Given the description of an element on the screen output the (x, y) to click on. 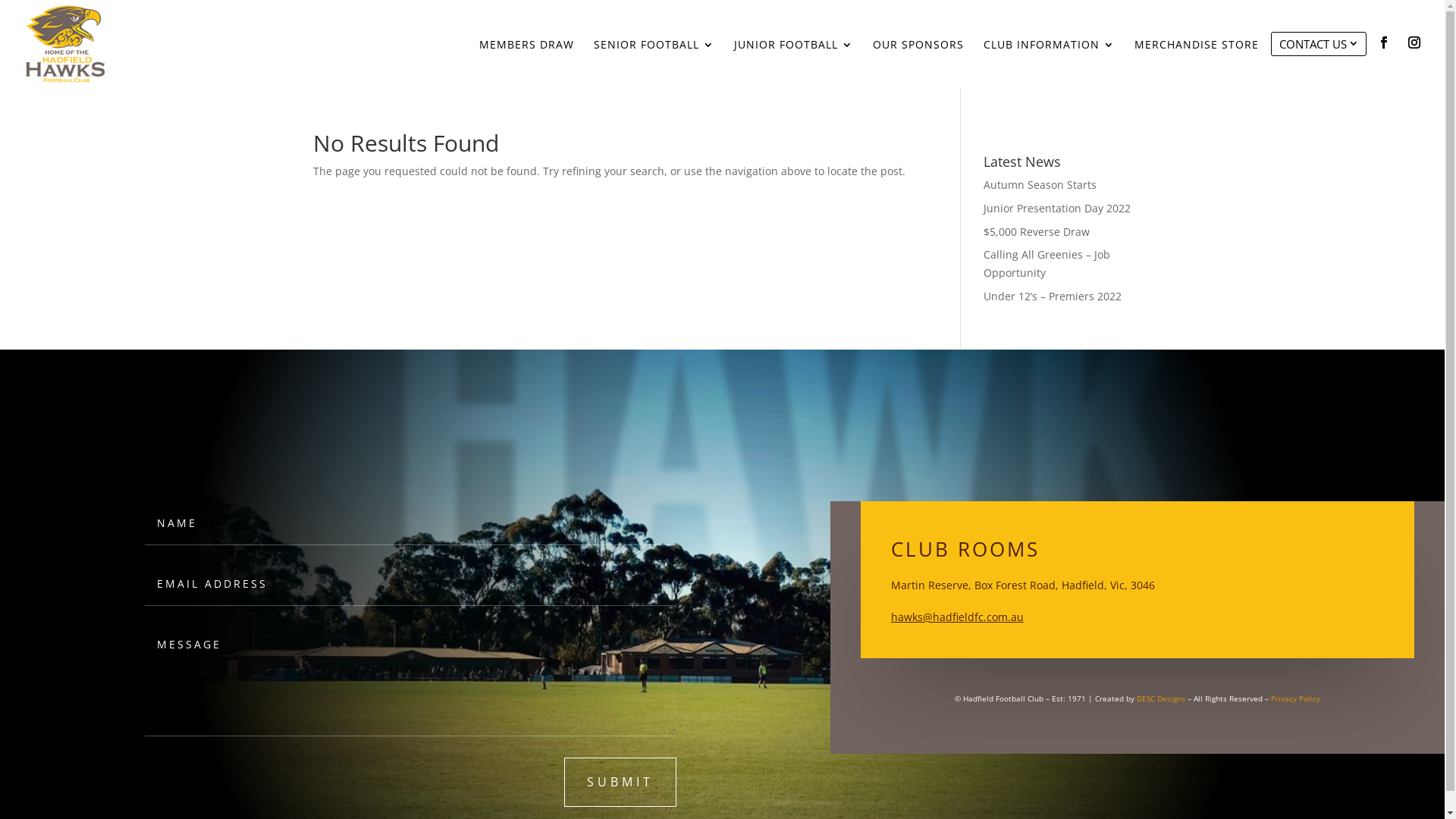
Autumn Season Starts Element type: text (1039, 184)
JUNIOR FOOTBALL Element type: text (793, 63)
CONTACT US Element type: text (1320, 59)
Junior Presentation Day 2022 Element type: text (1056, 207)
hawks@hadfieldfc.com.au Element type: text (957, 616)
SUBMIT Element type: text (619, 782)
DESC Designs Element type: text (1160, 698)
CLUB INFORMATION Element type: text (1048, 63)
Privacy Policy Element type: text (1295, 698)
$5,000 Reverse Draw Element type: text (1036, 231)
MEMBERS DRAW Element type: text (526, 63)
MERCHANDISE STORE Element type: text (1196, 63)
OUR SPONSORS Element type: text (917, 63)
SENIOR FOOTBALL Element type: text (653, 63)
